Given the description of an element on the screen output the (x, y) to click on. 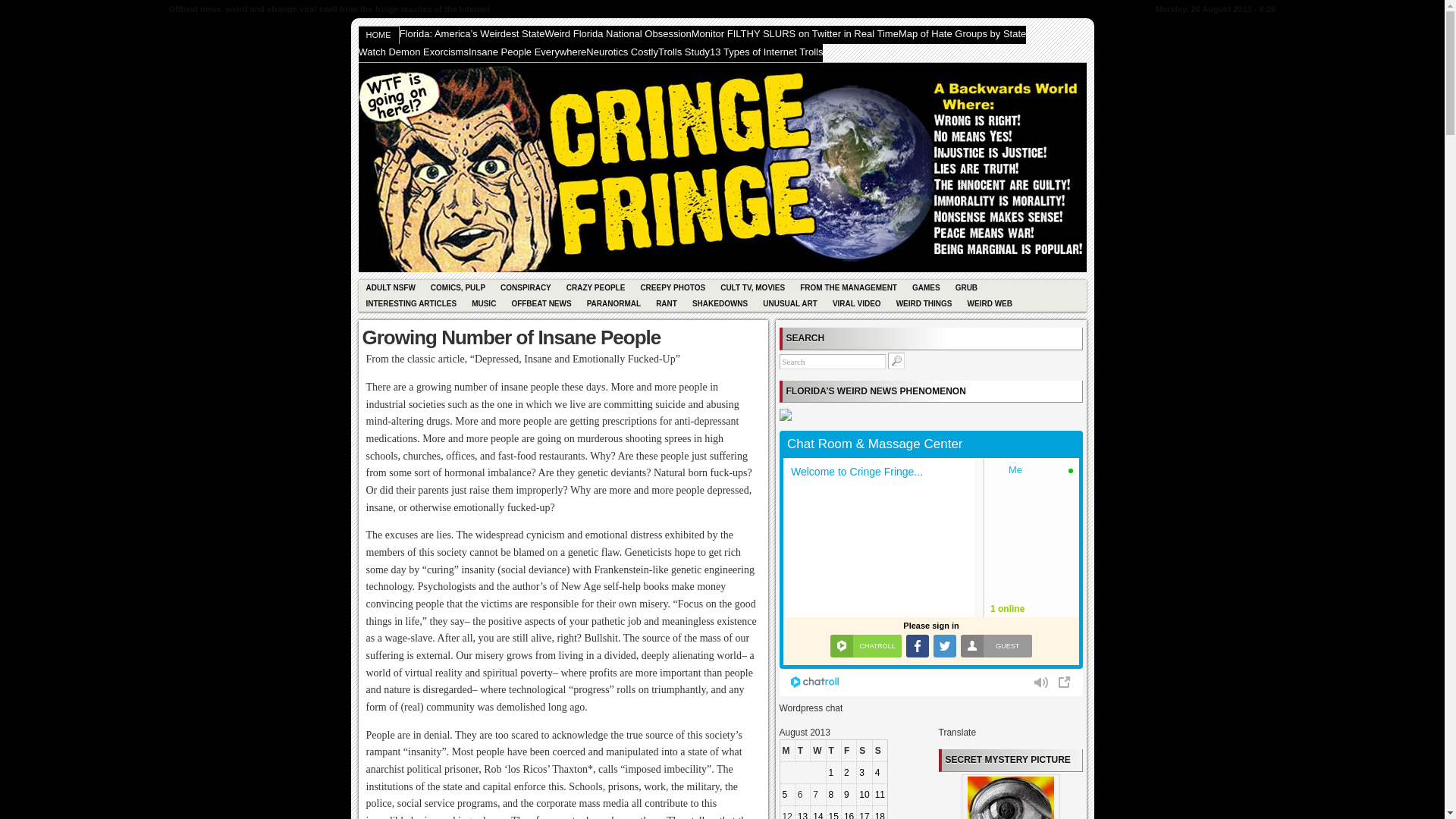
HOME (378, 34)
16 (848, 815)
INTERESTING ARTICLES (411, 303)
WEIRD WEB (989, 303)
15 (833, 815)
CONSPIRACY (526, 287)
Search (831, 361)
10 (864, 794)
View all posts filed under Conspiracy (526, 287)
View all posts filed under Grub (966, 287)
